Given the description of an element on the screen output the (x, y) to click on. 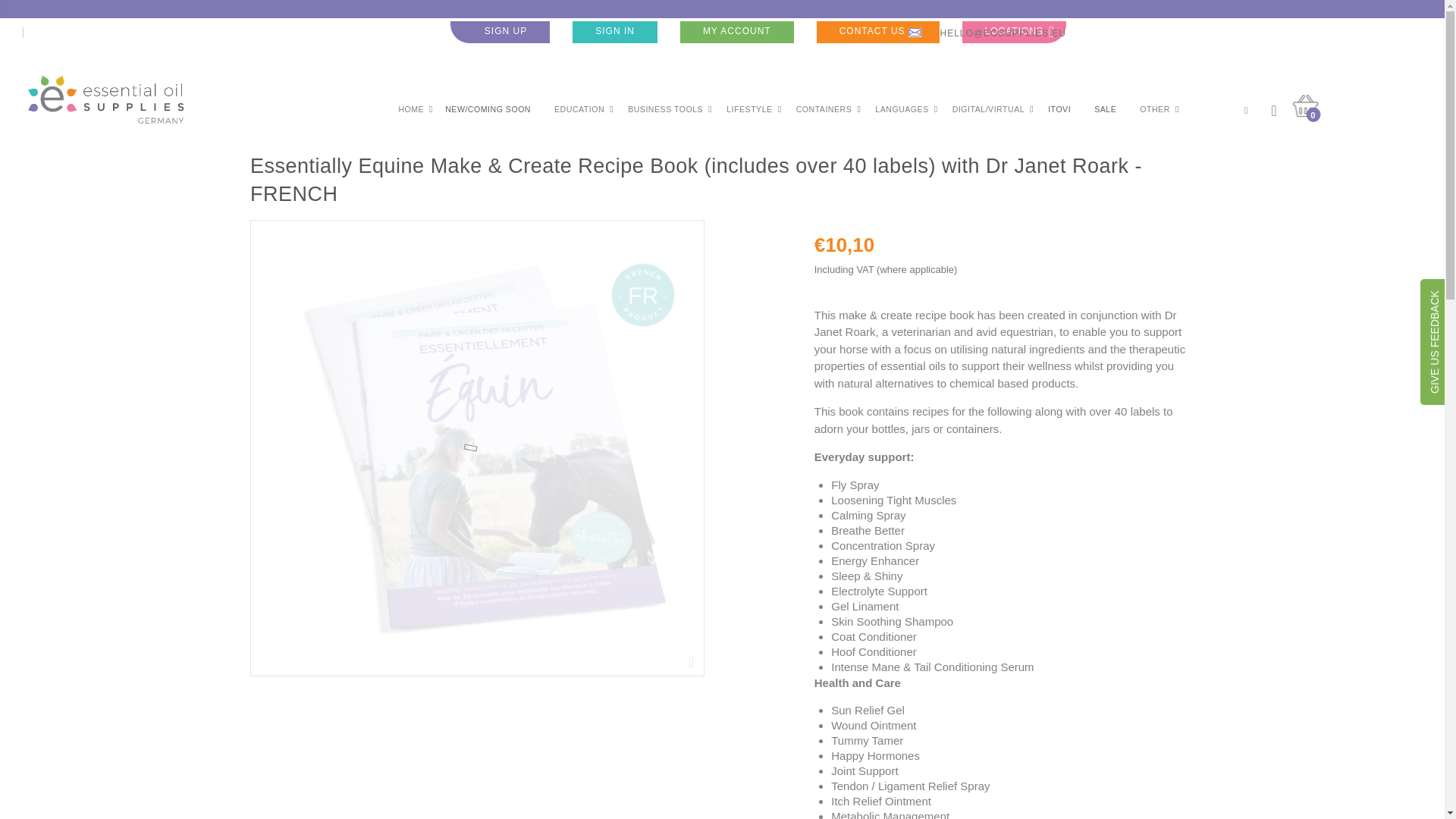
ENGLISH (56, 32)
MY ACCOUNT (736, 32)
CONTACT US (877, 32)
LOCATIONS (1013, 32)
SIGN UP (499, 32)
SIGN IN (615, 32)
